Given the description of an element on the screen output the (x, y) to click on. 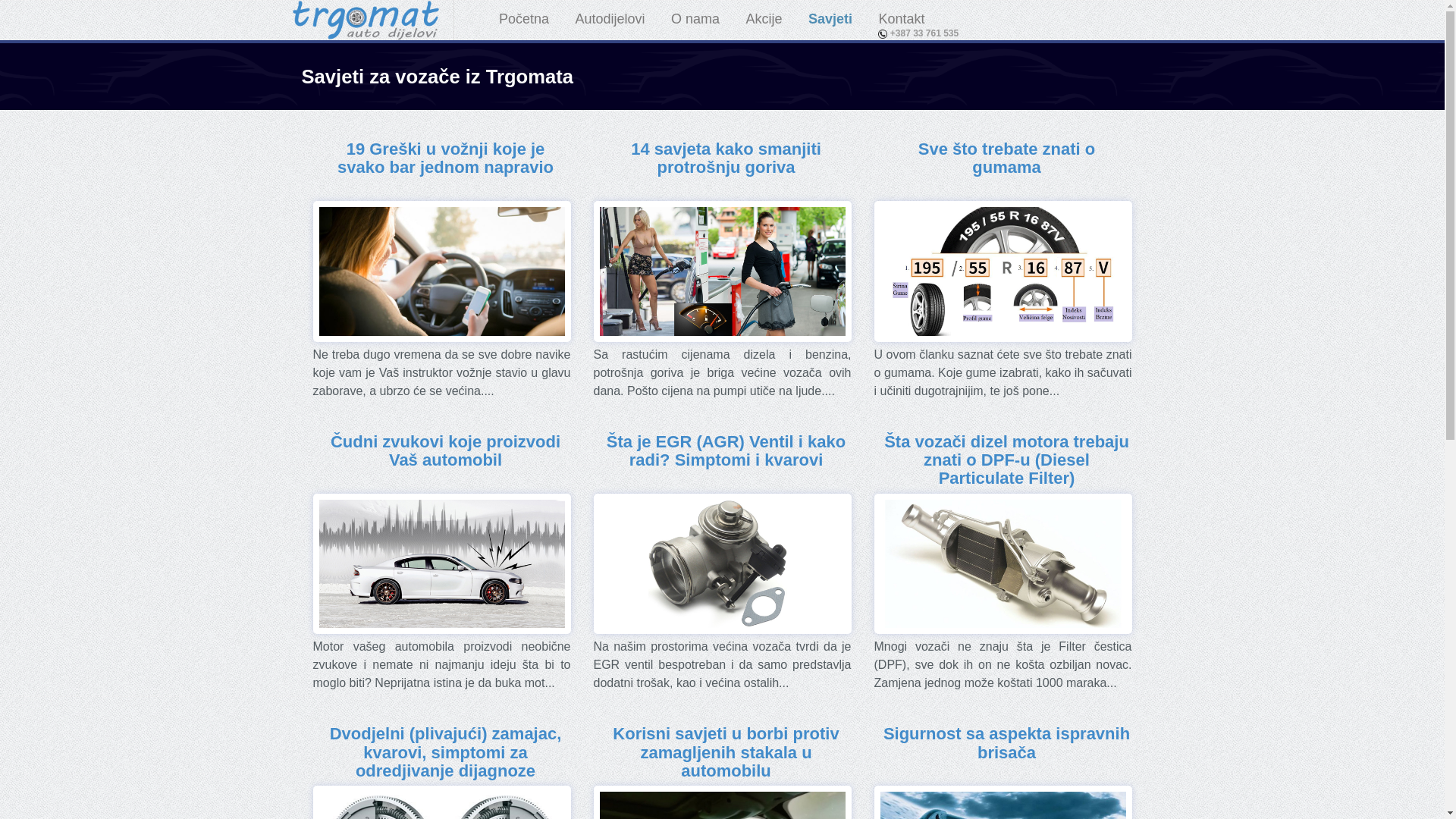
O nama Element type: text (695, 18)
Autodijelovi Element type: text (609, 18)
Akcije Element type: text (763, 18)
Kontakt
+387 33 761 535 Element type: text (900, 18)
Savjeti Element type: text (830, 18)
